Given the description of an element on the screen output the (x, y) to click on. 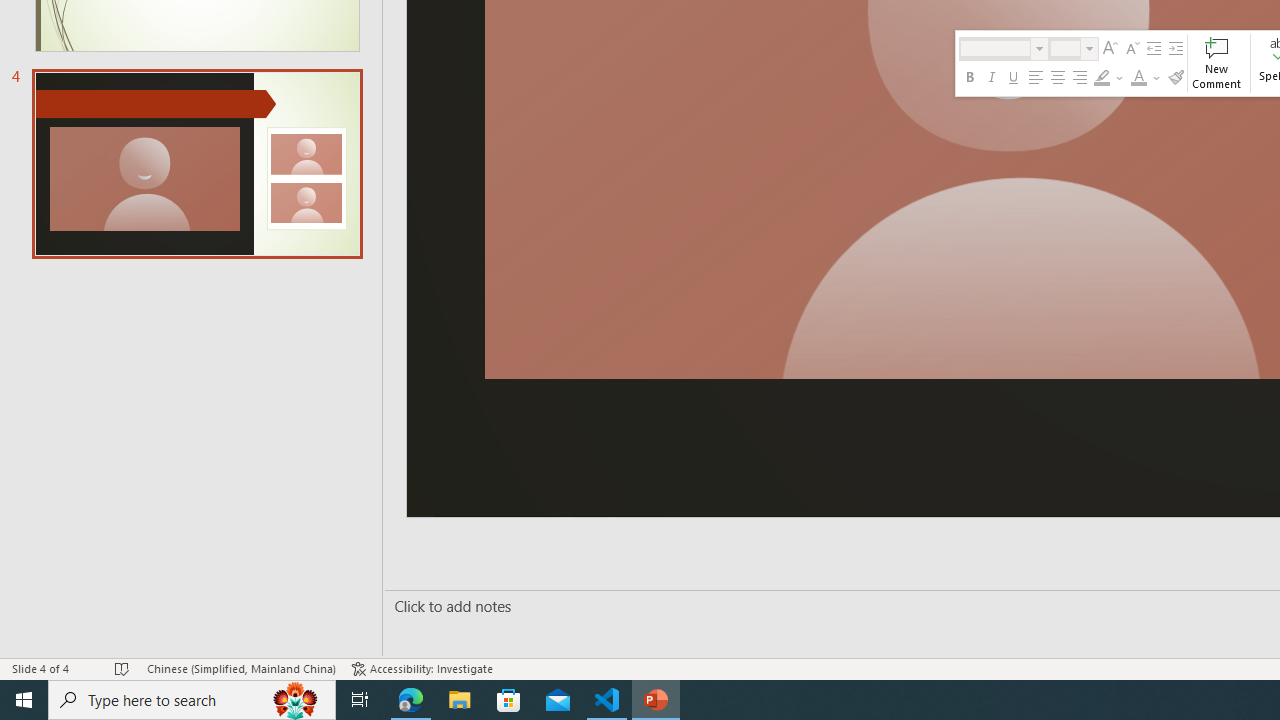
Decrease Indent (1153, 48)
New Comment (1216, 62)
Decrease Font Size (1132, 48)
Center (1057, 78)
Slide (196, 163)
Font Color (1138, 78)
Class: NetUIComboboxAnchor (1074, 48)
Align Right (1079, 78)
Align Left (1036, 78)
Text Highlight Color (1108, 78)
Underline (1014, 78)
Spell Check No Errors (123, 668)
Increase Font Size (1110, 48)
More Options (1156, 78)
Bold (969, 78)
